Given the description of an element on the screen output the (x, y) to click on. 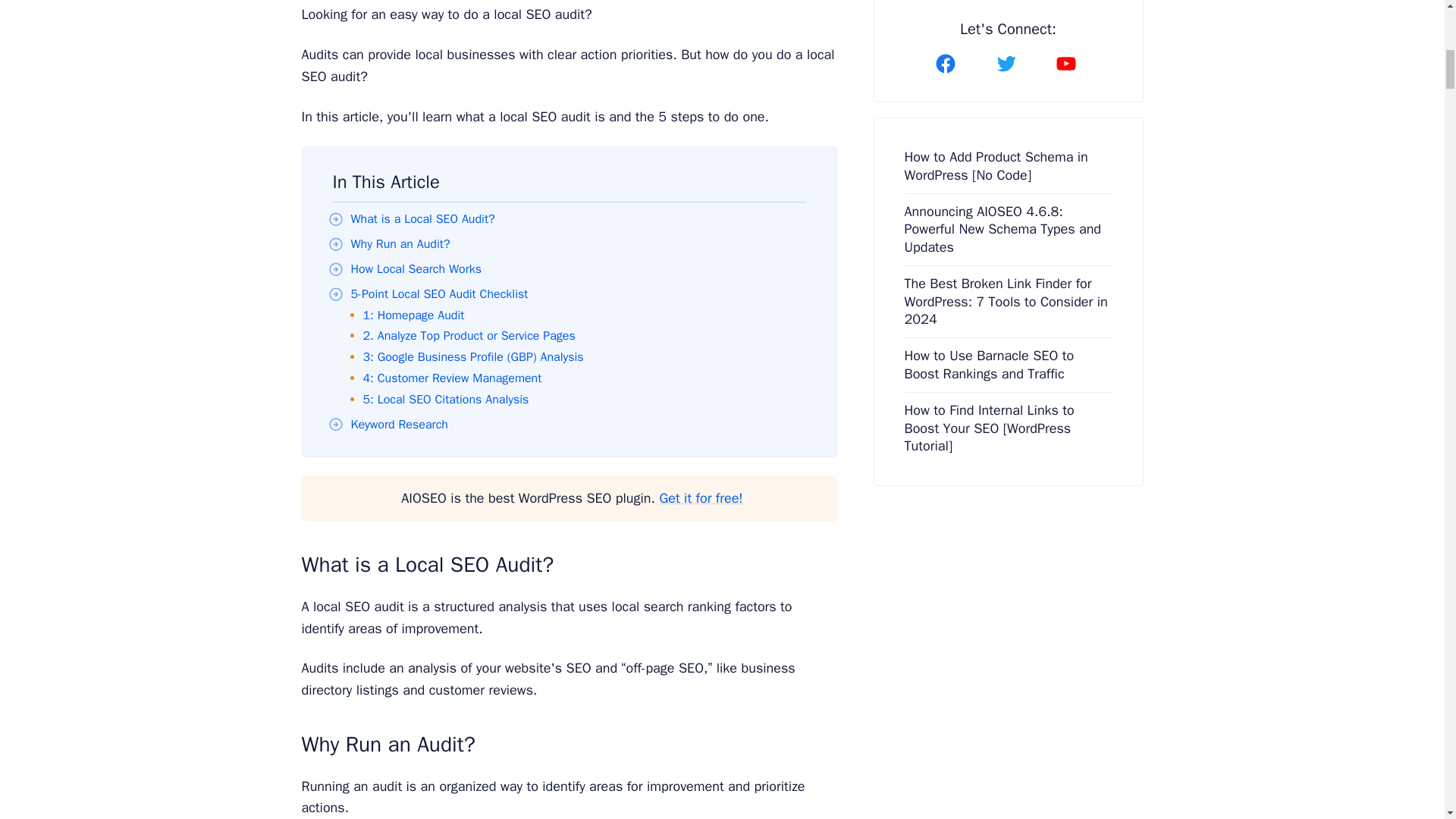
1: Homepage Audit (413, 314)
Why Run an Audit? (399, 243)
How Local Search Works (415, 268)
What is a Local SEO Audit? (422, 218)
5-Point Local SEO Audit Checklist (438, 294)
